Given the description of an element on the screen output the (x, y) to click on. 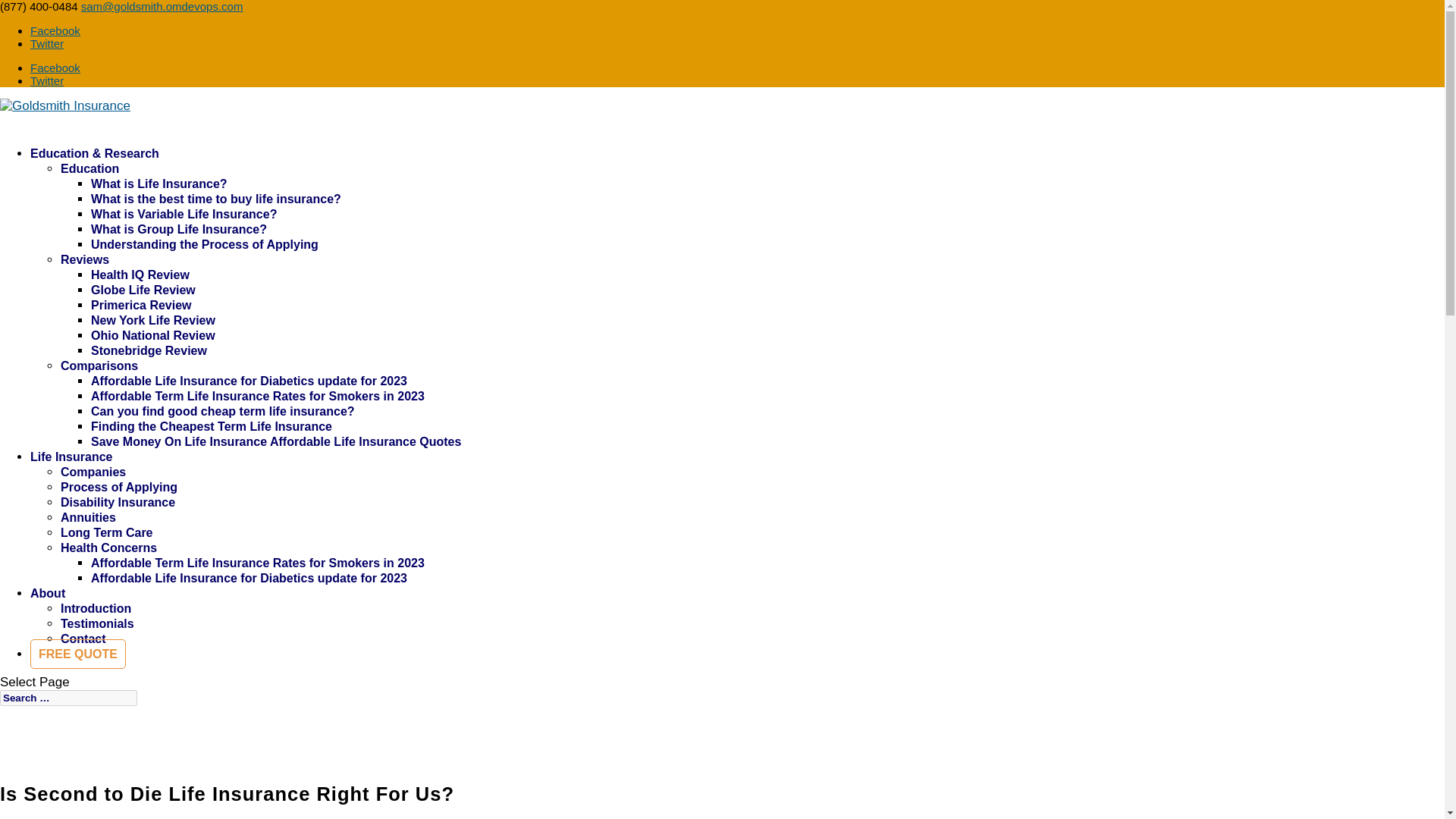
Primerica Review (141, 305)
Stonebridge Review (148, 350)
Comparisons (99, 365)
Globe Life Review (142, 289)
Can you find good cheap term life insurance? (222, 410)
Health IQ Review (139, 274)
Search for: (68, 697)
Testimonials (97, 623)
Companies (93, 472)
Long Term Care (106, 532)
Twitter (47, 42)
New York Life Review (152, 319)
Affordable Term Life Insurance Rates for Smokers in 2023 (257, 562)
Process of Applying (119, 486)
